Given the description of an element on the screen output the (x, y) to click on. 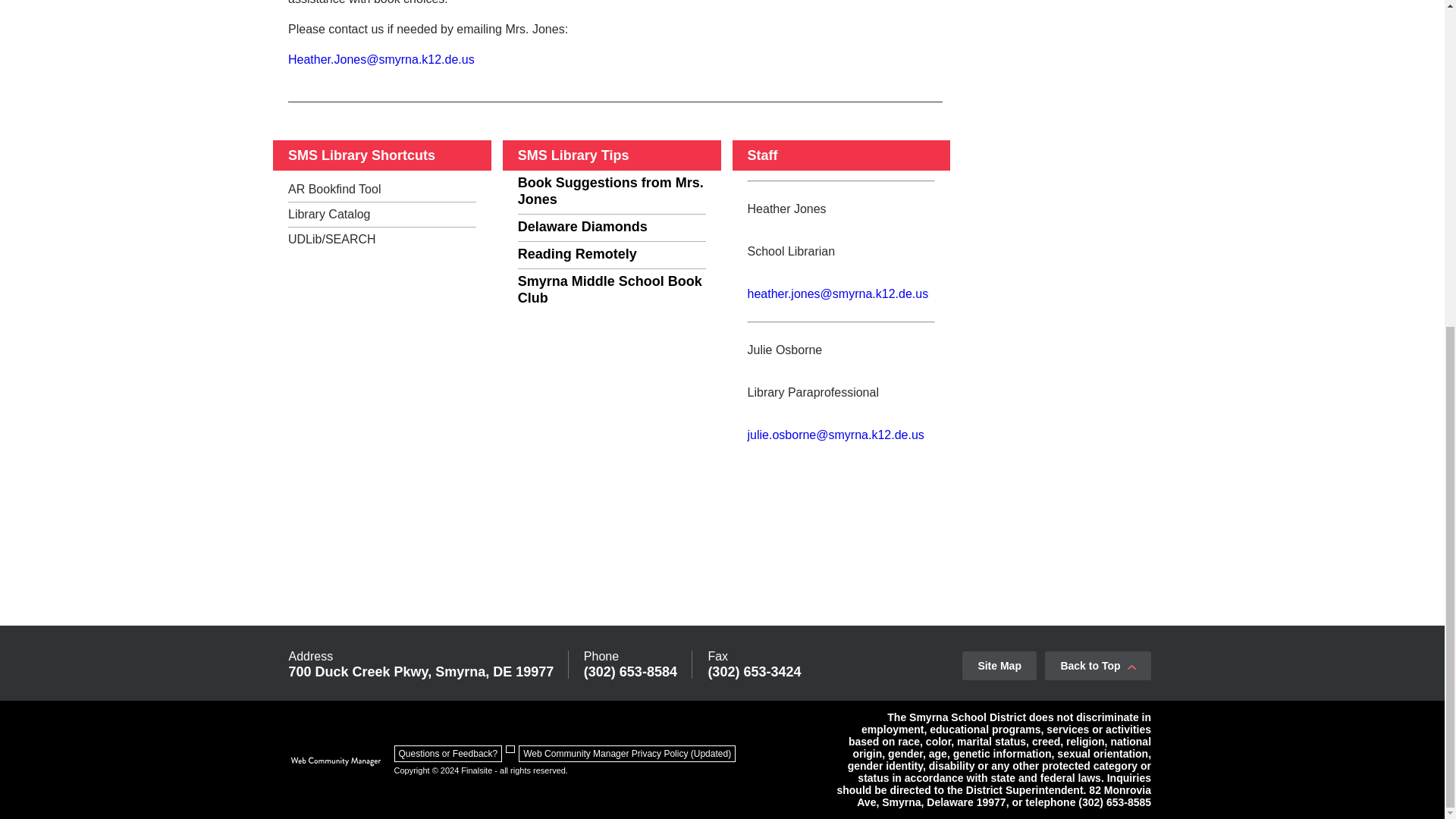
Finalsite - all rights reserved (334, 761)
